Given the description of an element on the screen output the (x, y) to click on. 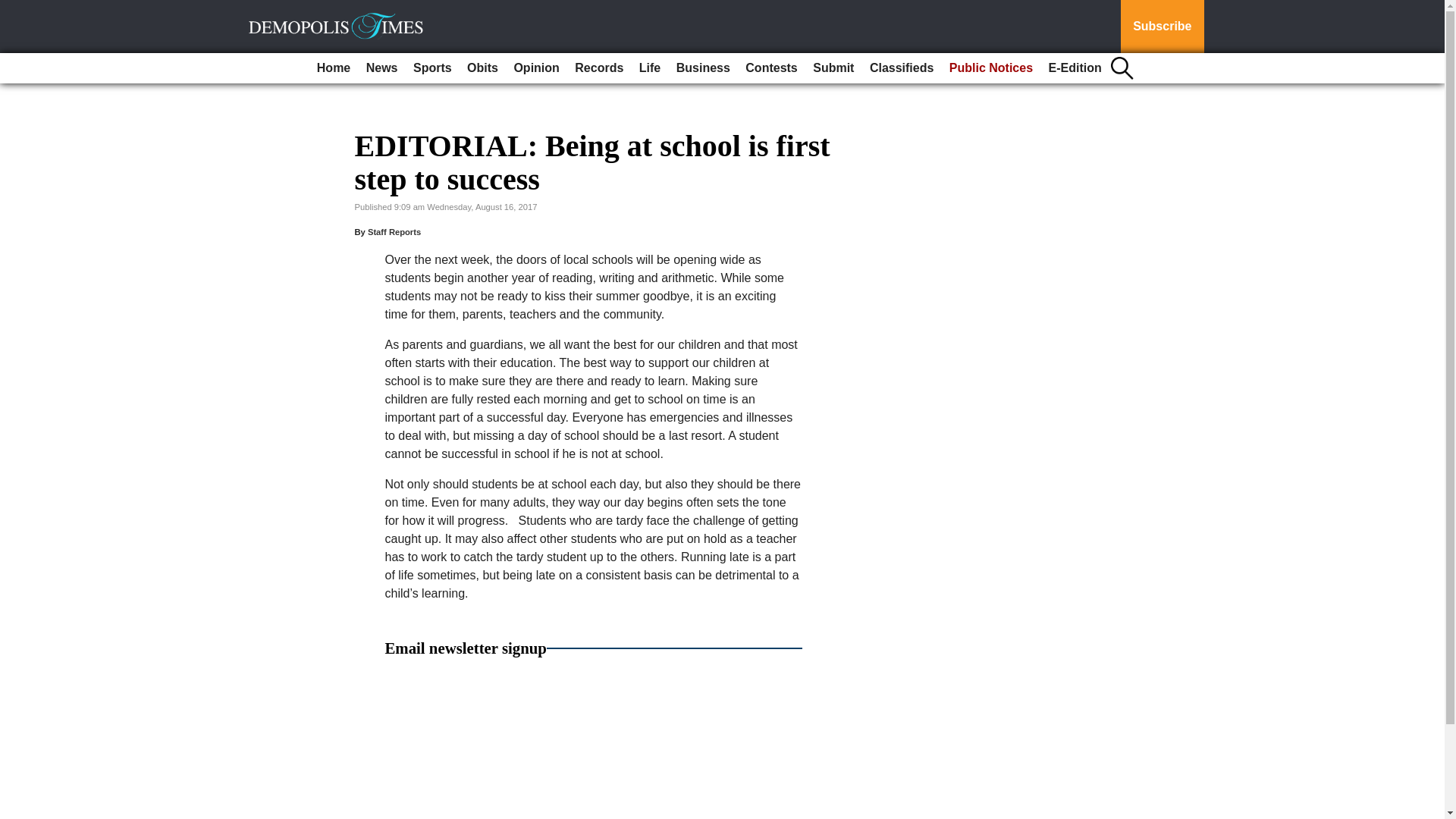
News (381, 68)
Sports (432, 68)
Submit (833, 68)
Opinion (535, 68)
Records (598, 68)
Go (13, 9)
Business (702, 68)
Life (649, 68)
Staff Reports (394, 231)
E-Edition (1075, 68)
